Given the description of an element on the screen output the (x, y) to click on. 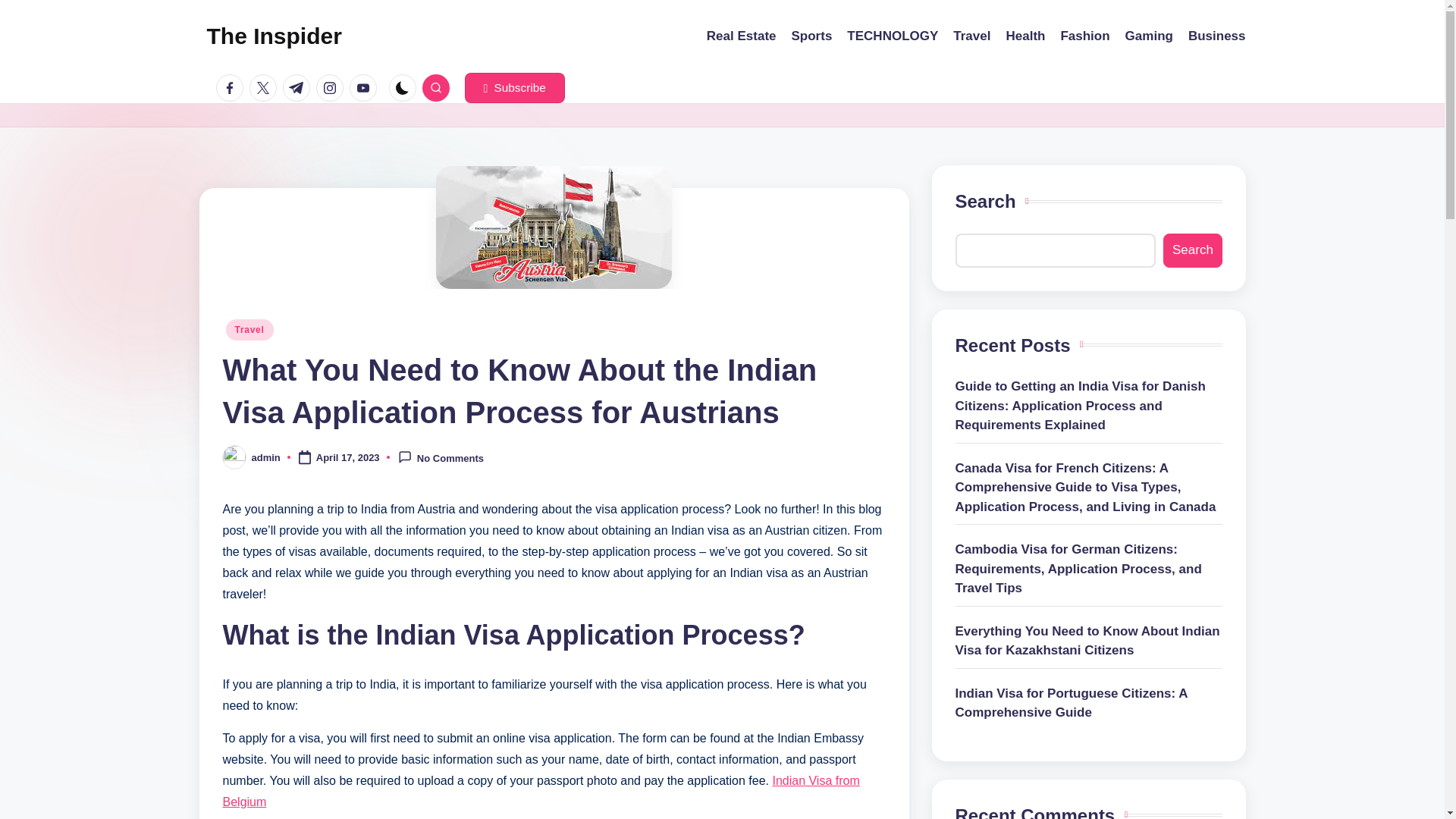
Subscribe (514, 87)
Real Estate (741, 36)
View all posts by admin (266, 457)
youtube.com (365, 87)
Indian Visa from Belgium (541, 790)
Search (1192, 250)
t.me (298, 87)
Sports (812, 36)
Gaming (1149, 36)
Health (1025, 36)
Indian Visa for Portuguese Citizens: A Comprehensive Guide (1089, 702)
Fashion (1084, 36)
admin (266, 457)
